Given the description of an element on the screen output the (x, y) to click on. 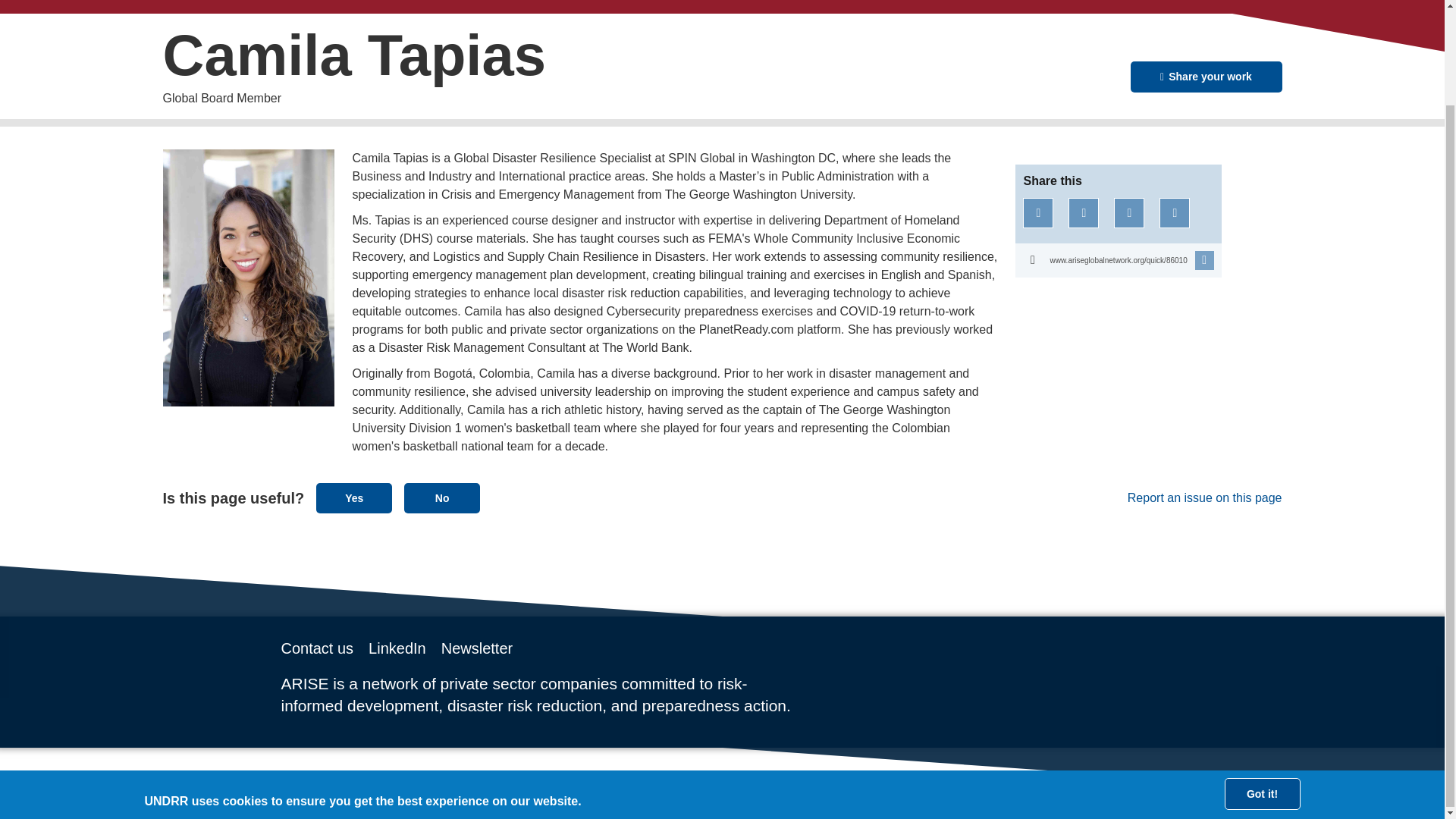
Contact us (317, 648)
LinkedIn (397, 648)
Yes (353, 498)
No (442, 498)
Share your work (1205, 76)
Newsletter (476, 648)
Report an issue on this page (1175, 497)
Got it! (1262, 684)
